Given the description of an element on the screen output the (x, y) to click on. 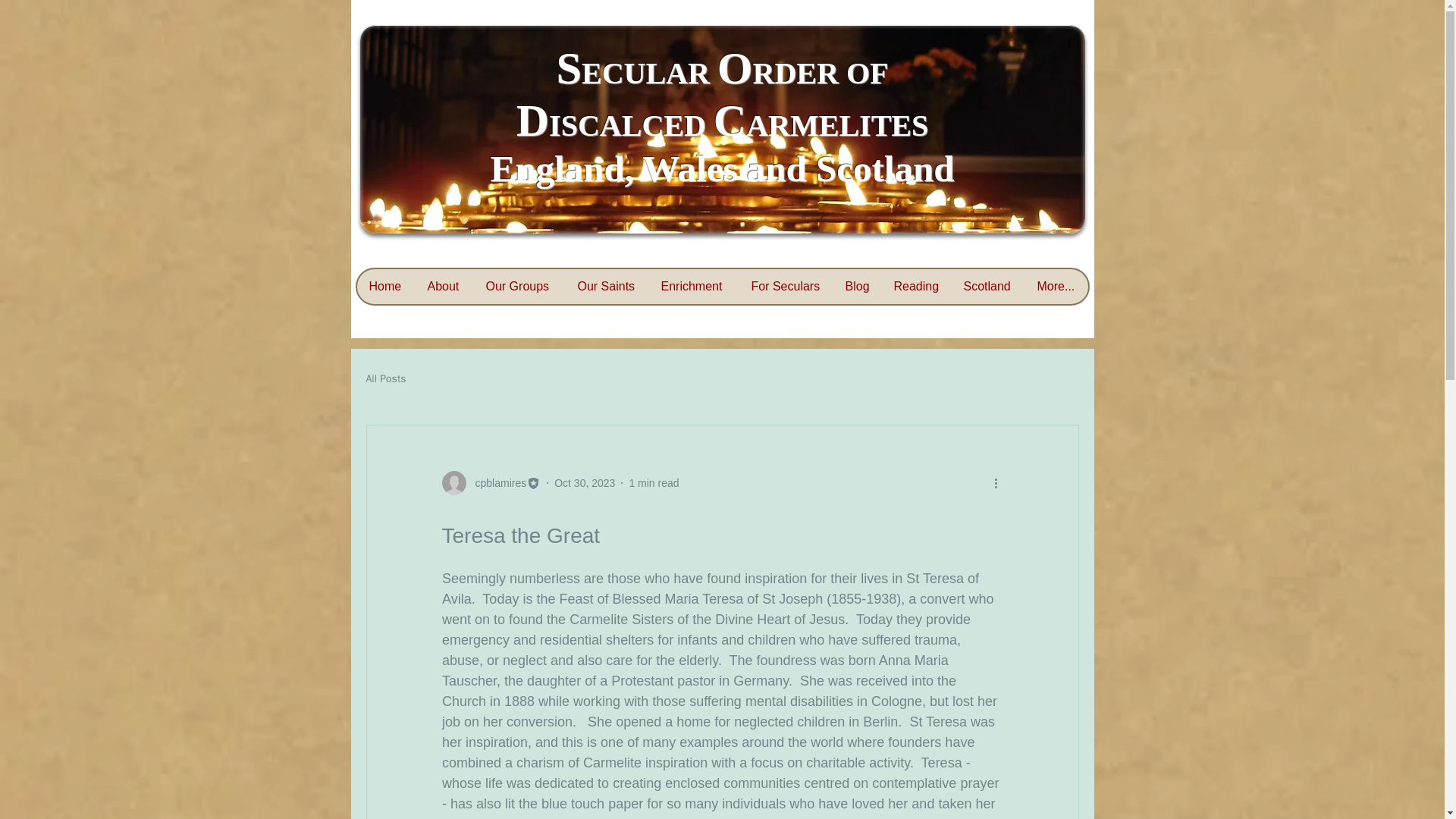
Home (385, 286)
1 min read (653, 481)
Blog (856, 286)
Our Groups (518, 286)
For Seculars (785, 286)
cpblamires (495, 482)
Our Saints (607, 286)
cpblamires (490, 482)
About (444, 286)
Scotland (987, 286)
Oct 30, 2023 (584, 481)
All Posts (385, 378)
